Given the description of an element on the screen output the (x, y) to click on. 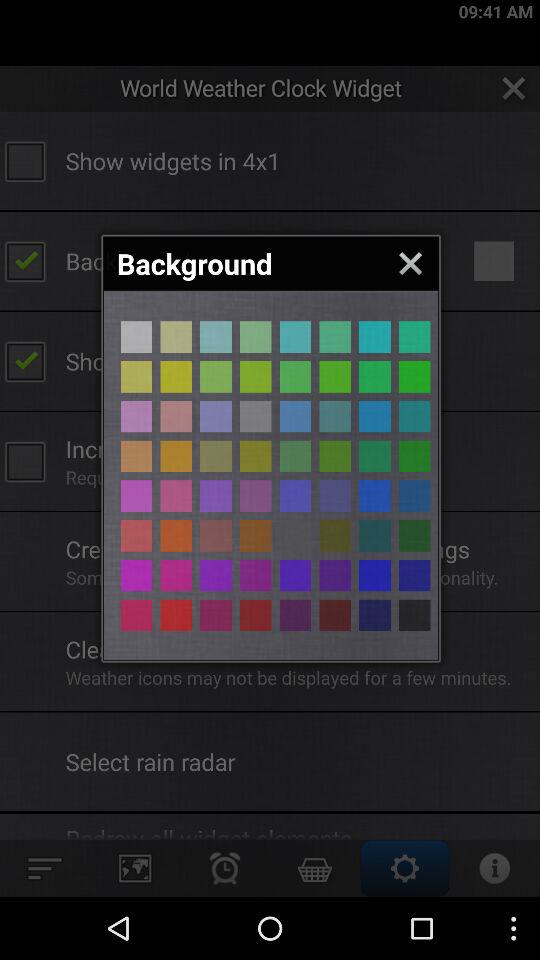
box (414, 416)
